Given the description of an element on the screen output the (x, y) to click on. 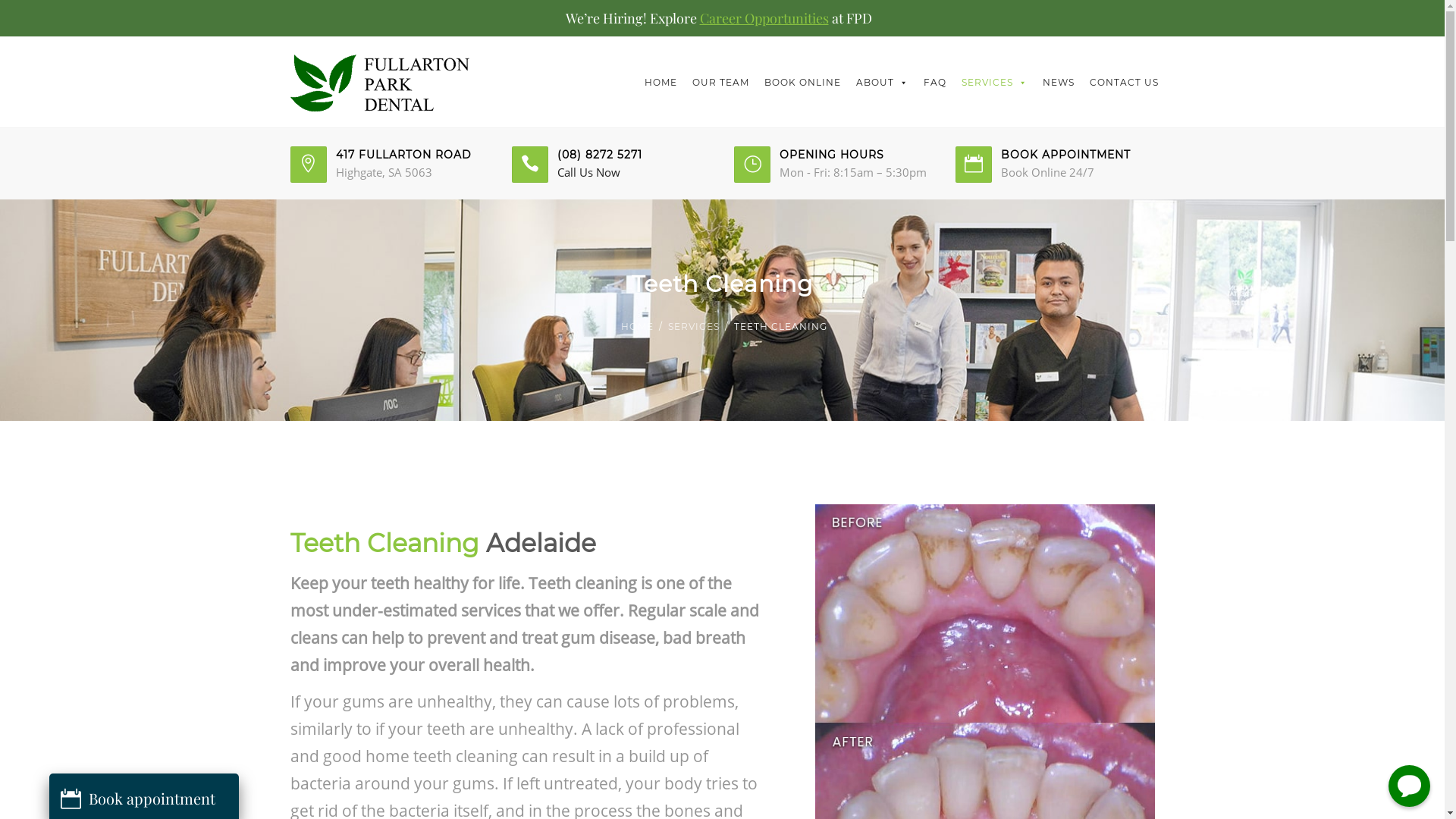
OUR TEAM Element type: text (720, 82)
FAQ Element type: text (934, 82)
Career Opportunities Element type: text (763, 18)
BOOK ONLINE Element type: text (802, 82)
HOME Element type: text (636, 326)
ABOUT Element type: text (881, 82)
HOME Element type: text (660, 82)
Call Us Now Element type: text (588, 171)
CONTACT US Element type: text (1123, 82)
NEWS Element type: text (1057, 82)
SERVICES Element type: text (692, 326)
SERVICES Element type: text (994, 82)
